Given the description of an element on the screen output the (x, y) to click on. 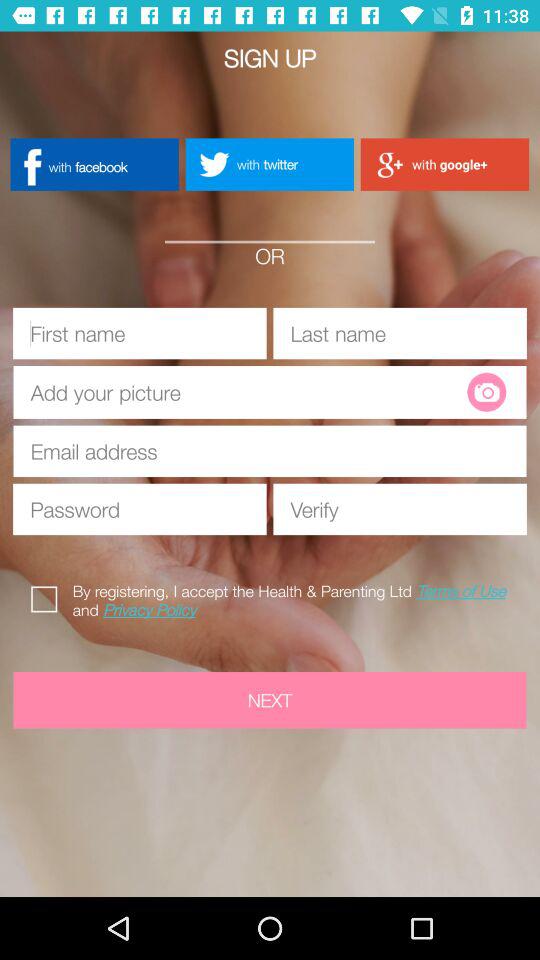
accept terms (48, 596)
